Given the description of an element on the screen output the (x, y) to click on. 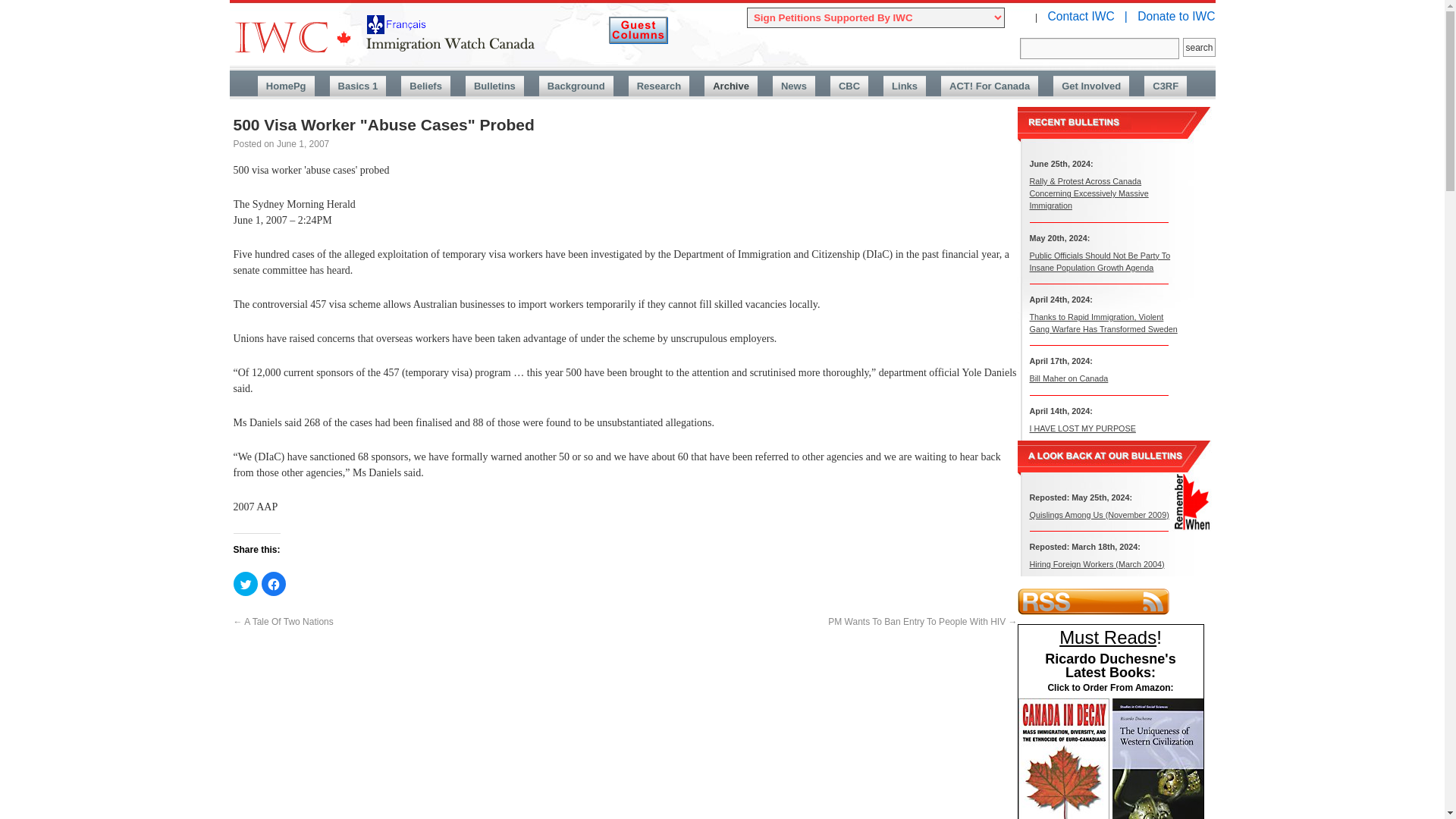
search (1198, 46)
search (1198, 46)
Search (1099, 47)
Permanent Link to I HAVE LOST MY PURPOSE (1082, 427)
Permanent Link to Bill Maher on Canada (1068, 378)
Canadians Citizens For Charter Rights and Freedoms (1165, 86)
Click to share on Facebook (272, 583)
Click to share on Twitter (244, 583)
Donate to IWC (1175, 15)
